Given the description of an element on the screen output the (x, y) to click on. 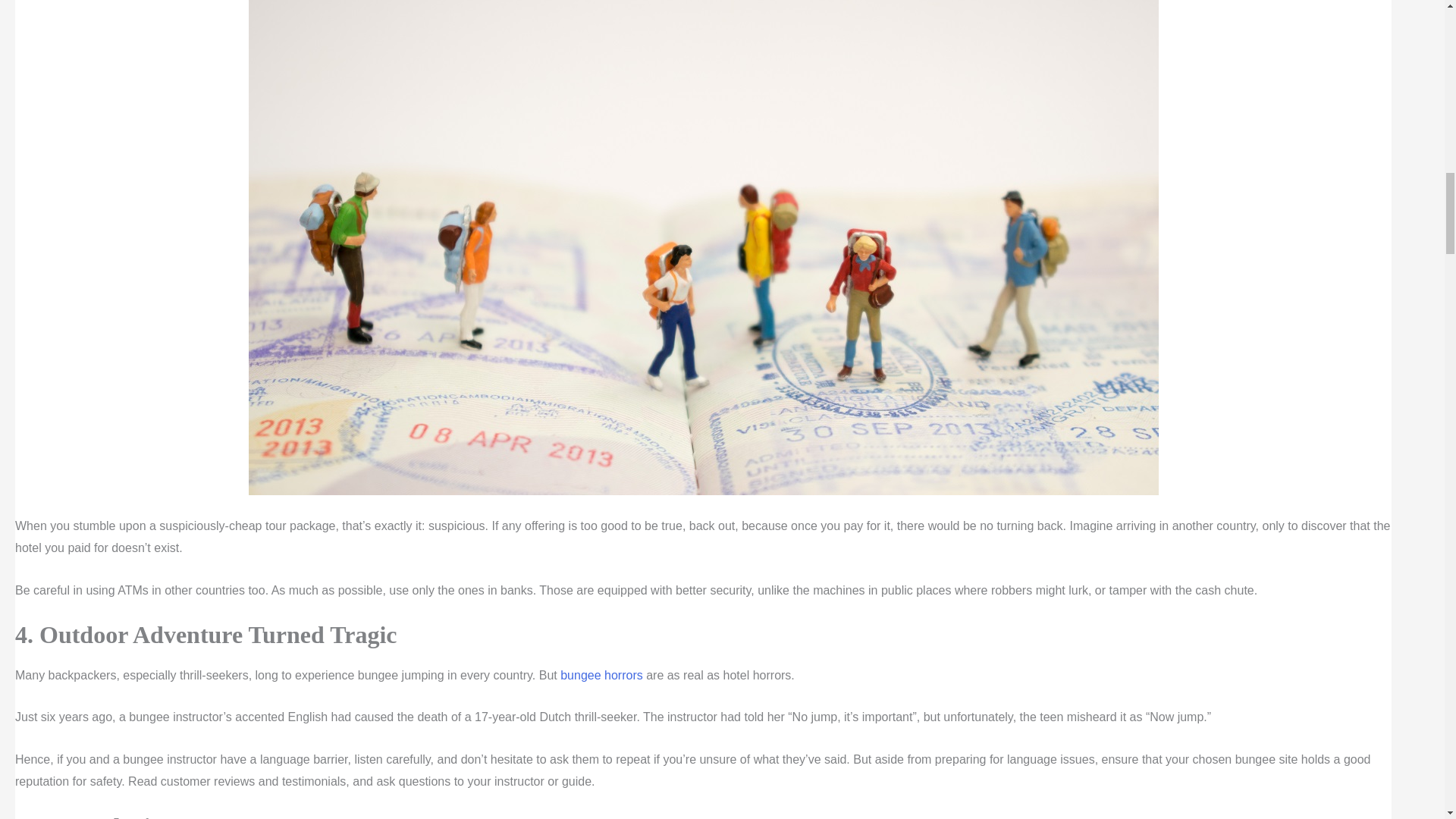
bungee horrors (601, 675)
